Given the description of an element on the screen output the (x, y) to click on. 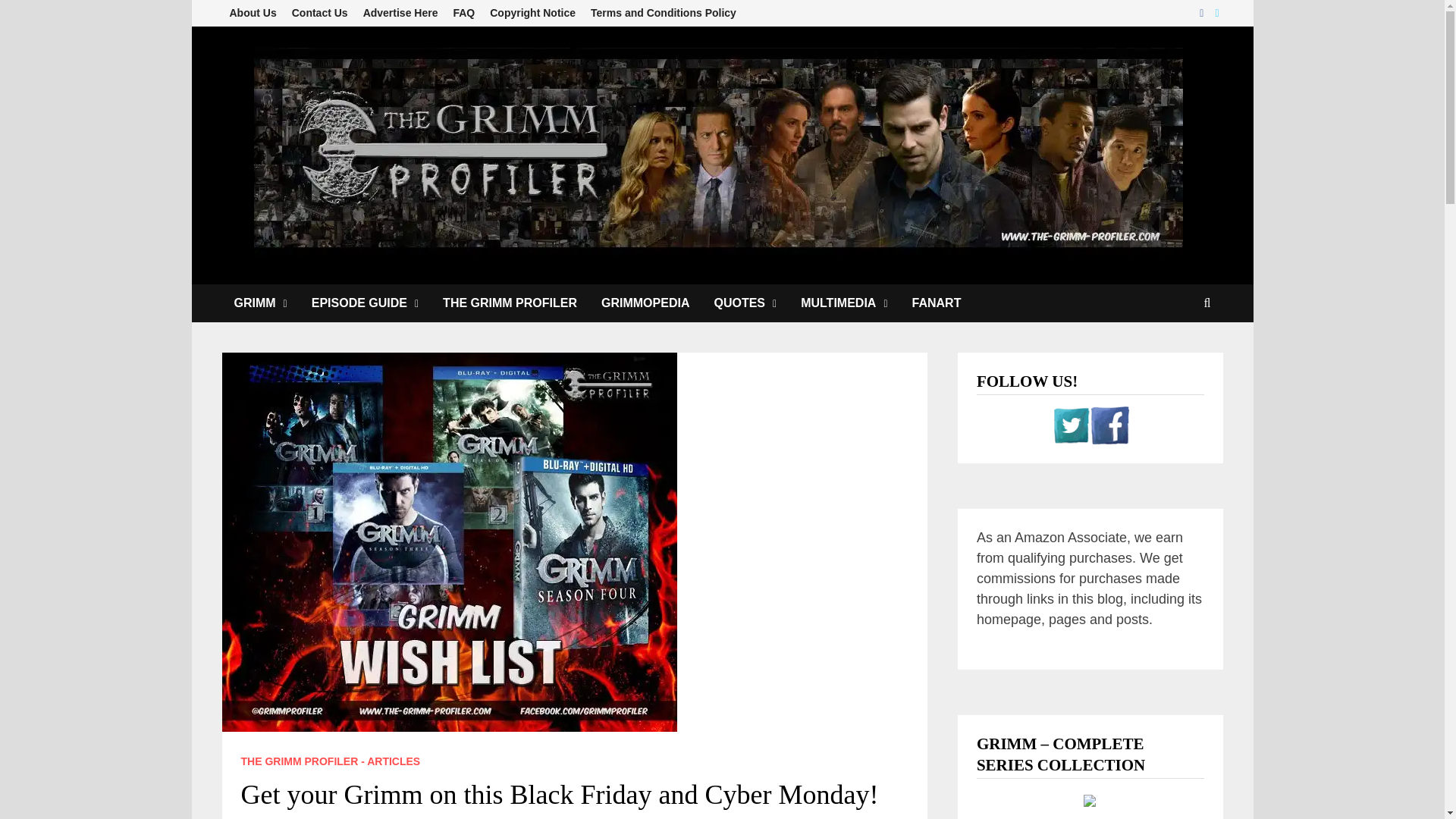
FAQ (463, 13)
MULTIMEDIA (844, 303)
Visit Us On Twitter (1070, 424)
GRIMM (259, 303)
GRIMMOPEDIA (645, 303)
Facebook (1203, 11)
QUOTES (745, 303)
Terms and Conditions Policy (663, 13)
Visit Us On Facebook (1109, 424)
Copyright Notice (532, 13)
About Us (252, 13)
Twitter (1217, 11)
Advertise Here (400, 13)
EPISODE GUIDE (364, 303)
THE GRIMM PROFILER (509, 303)
